Given the description of an element on the screen output the (x, y) to click on. 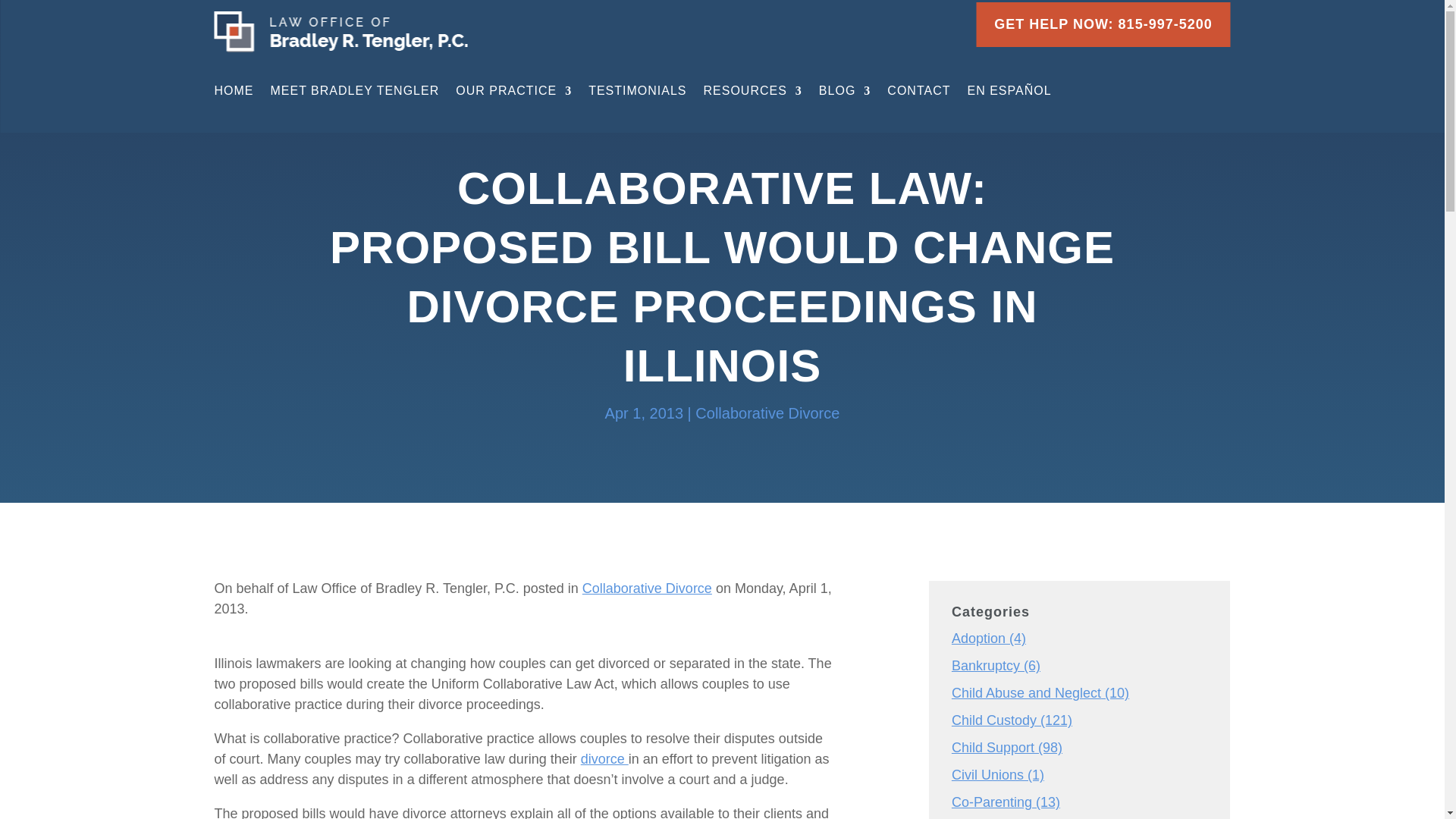
Co-Parenting (992, 801)
divorce (604, 758)
Child Abuse and Neglect (1026, 693)
OUR PRACTICE (513, 93)
CONTACT (918, 93)
Collaborative Divorce (767, 412)
BLOG (844, 93)
MEET BRADLEY TENGLER (354, 93)
Adoption (979, 638)
Child Custody (994, 720)
